Given the description of an element on the screen output the (x, y) to click on. 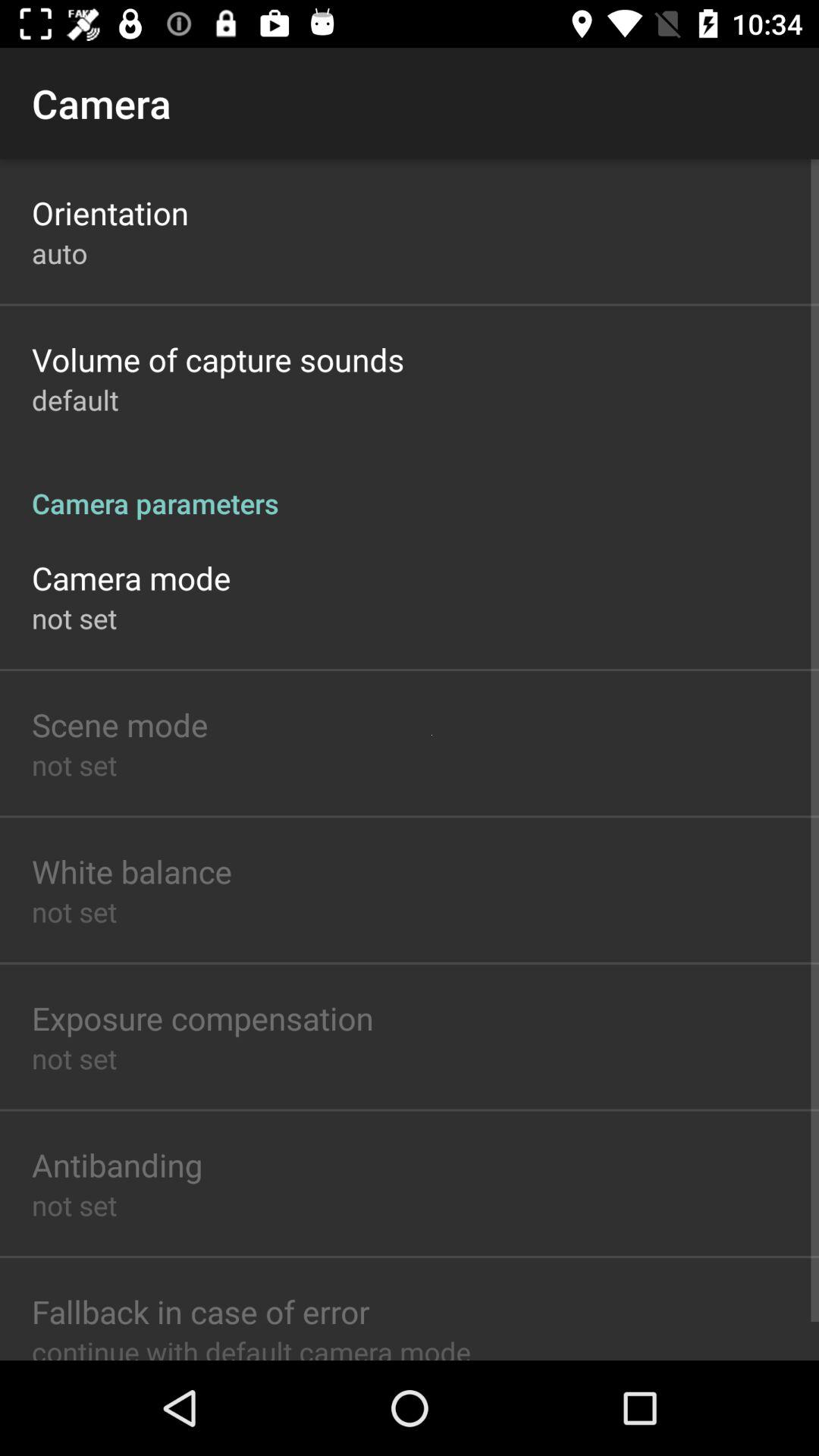
click app above the default item (217, 359)
